Given the description of an element on the screen output the (x, y) to click on. 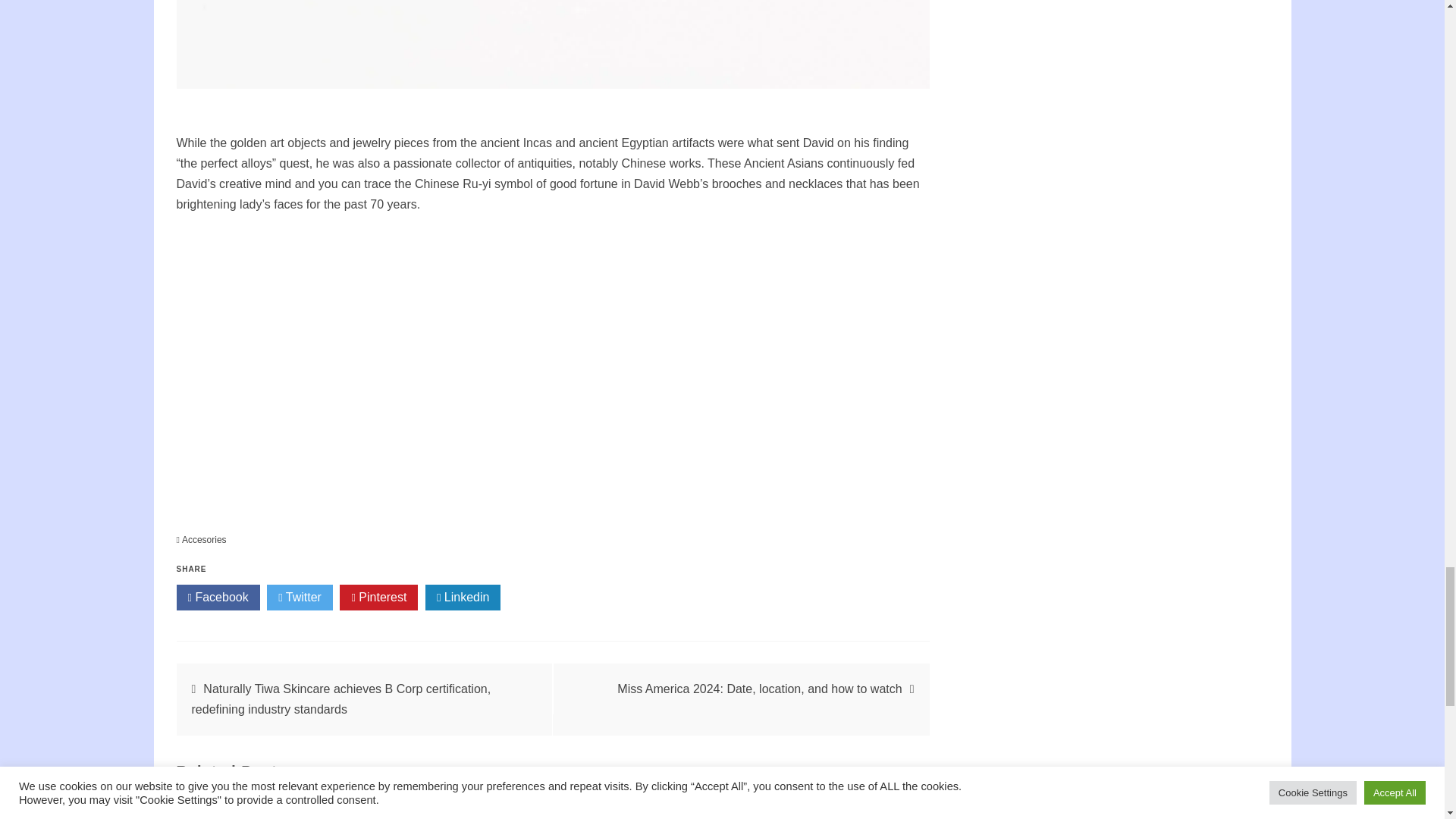
Big Bridge Sways 2024 (552, 806)
Rita Moreno, 92, Debuts Major Hair Change at 2024 Oscars (812, 806)
Facebook (217, 597)
Linkedin (462, 597)
Pinterest (378, 597)
Twitter (299, 597)
Miss America 2024: Date, location, and how to watch (759, 688)
Accesories (204, 539)
